Given the description of an element on the screen output the (x, y) to click on. 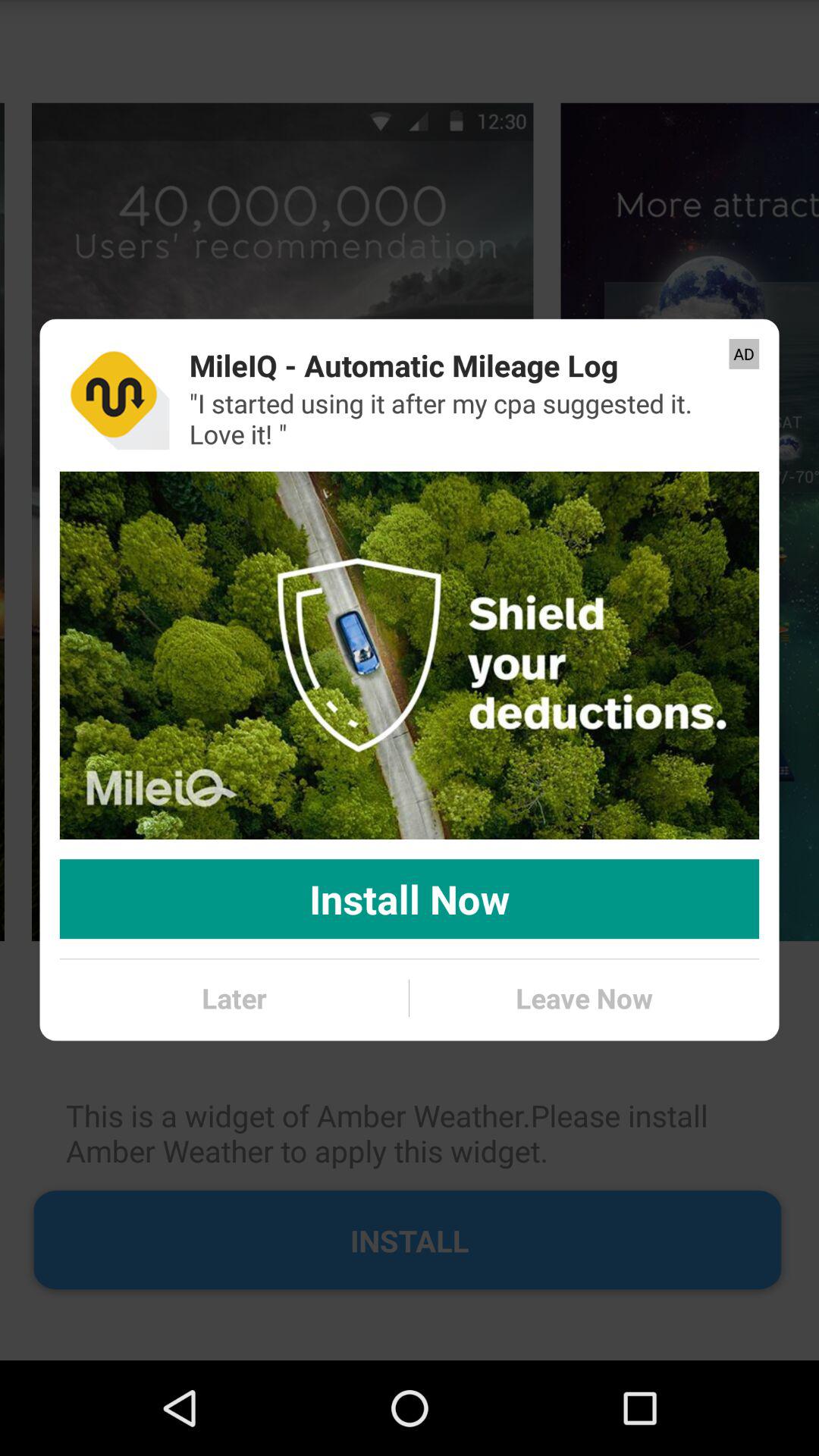
choose the icon next to mileiq automatic mileage item (114, 394)
